Given the description of an element on the screen output the (x, y) to click on. 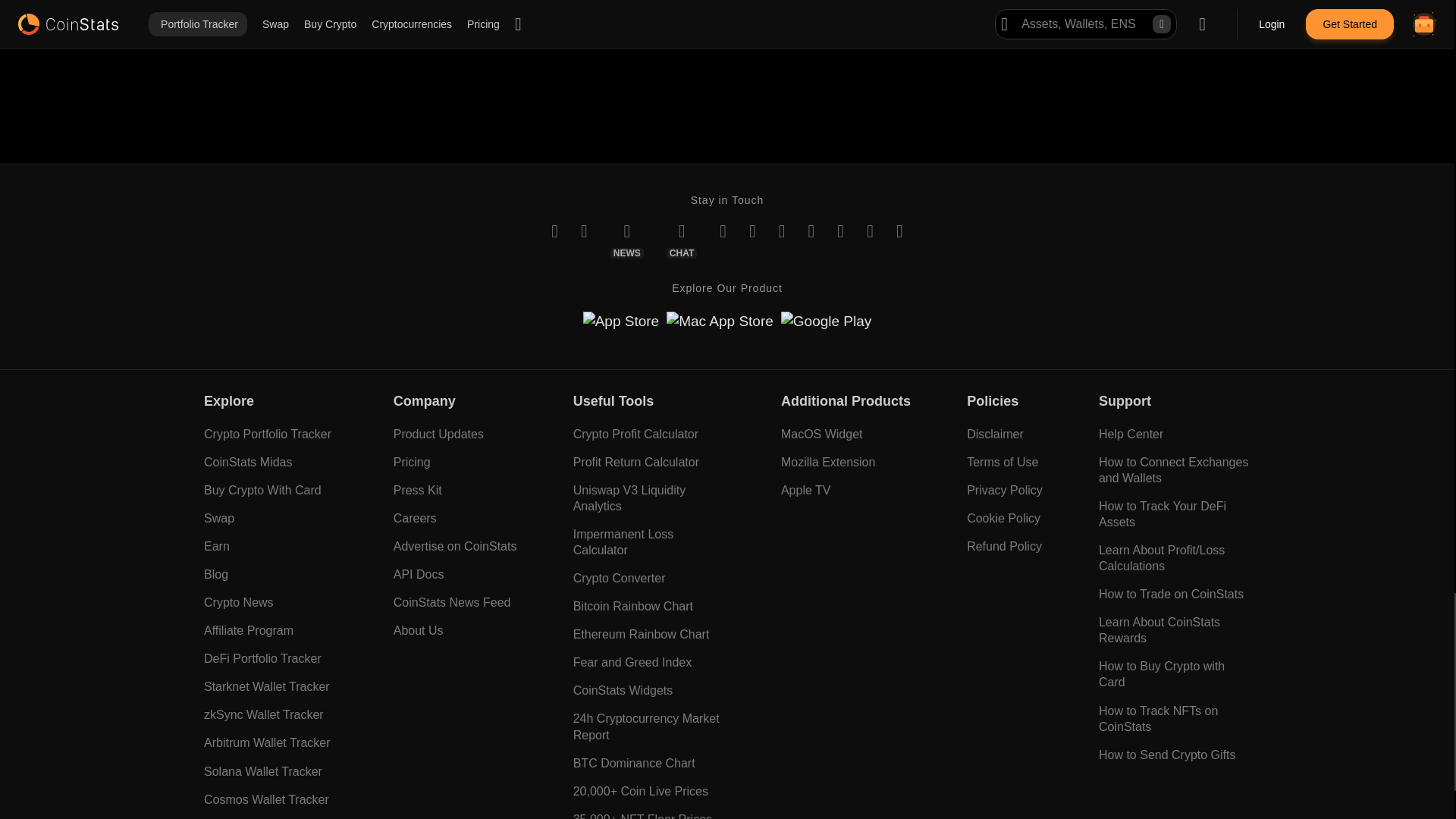
bullish (536, 14)
bearish (848, 19)
bullish (314, 19)
bullish (757, 19)
bearish (406, 19)
bearish (627, 14)
